Given the description of an element on the screen output the (x, y) to click on. 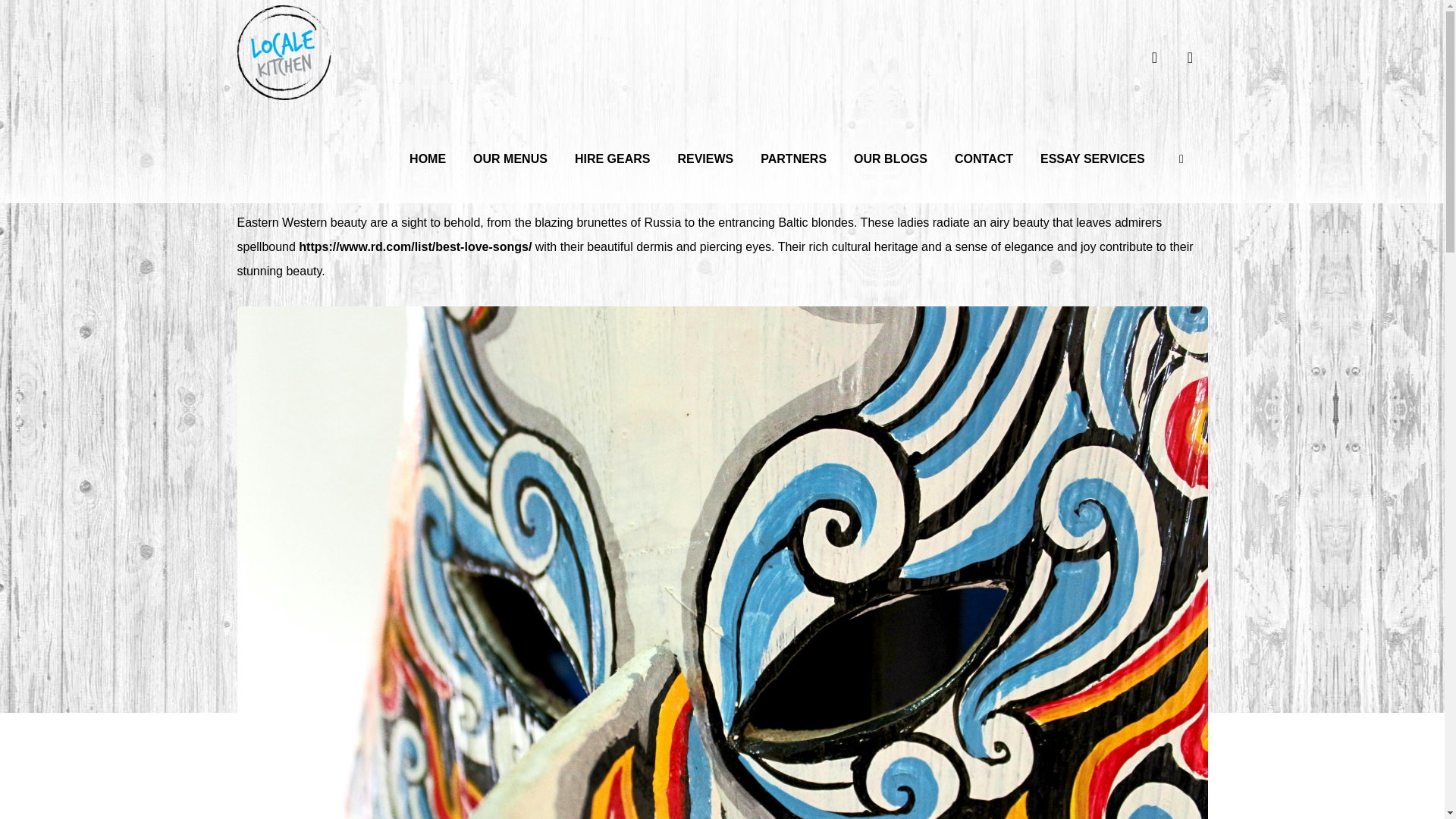
PARTNERS (793, 152)
REVIEWS (705, 152)
ESSAY SERVICES (1092, 152)
HIRE GEARS (612, 152)
OUR MENUS (510, 152)
OUR BLOGS (890, 152)
CONTACT (983, 152)
